Given the description of an element on the screen output the (x, y) to click on. 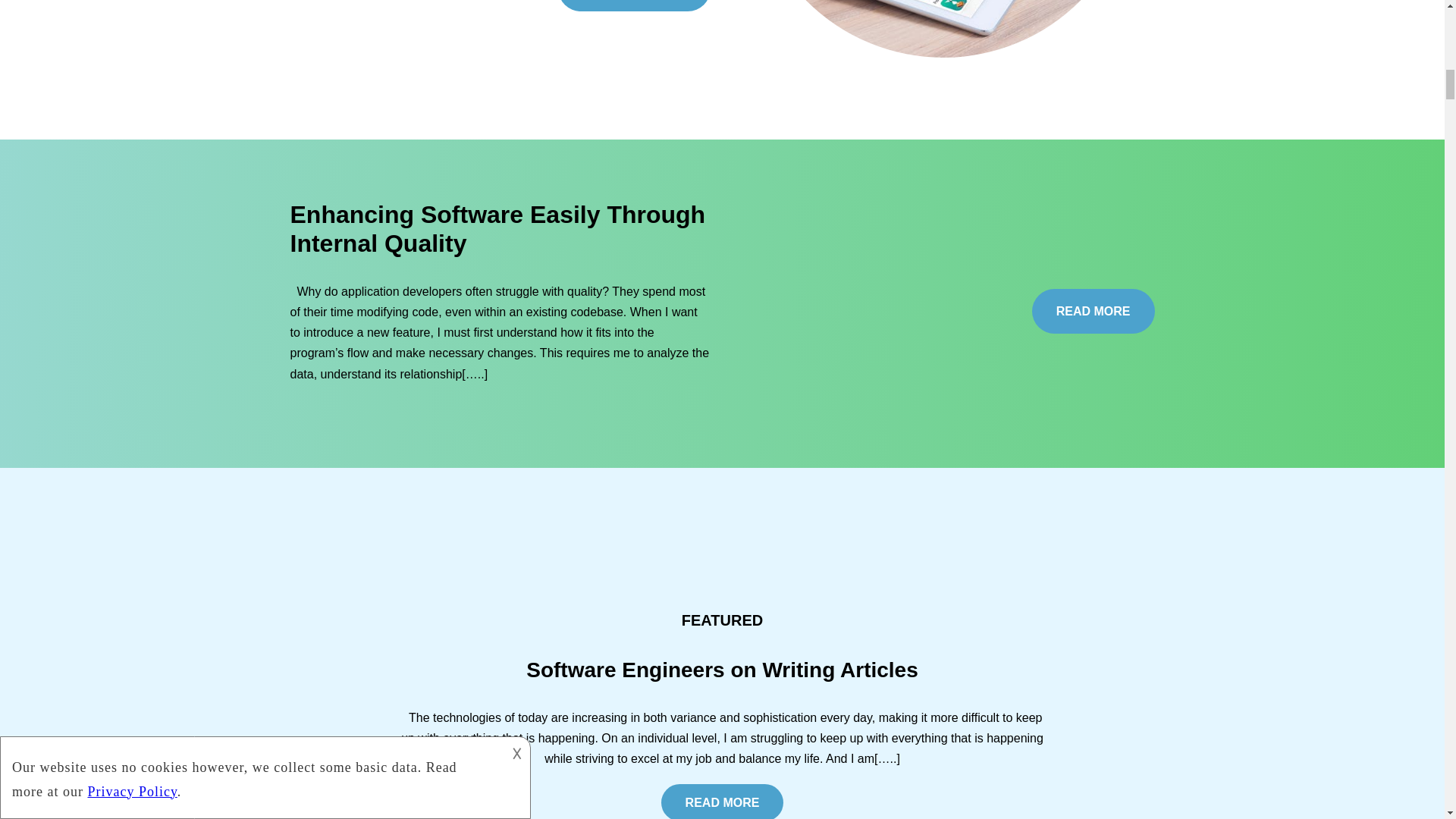
READ MORE (1093, 311)
READ MORE (722, 801)
Continue Reading (633, 5)
